Given the description of an element on the screen output the (x, y) to click on. 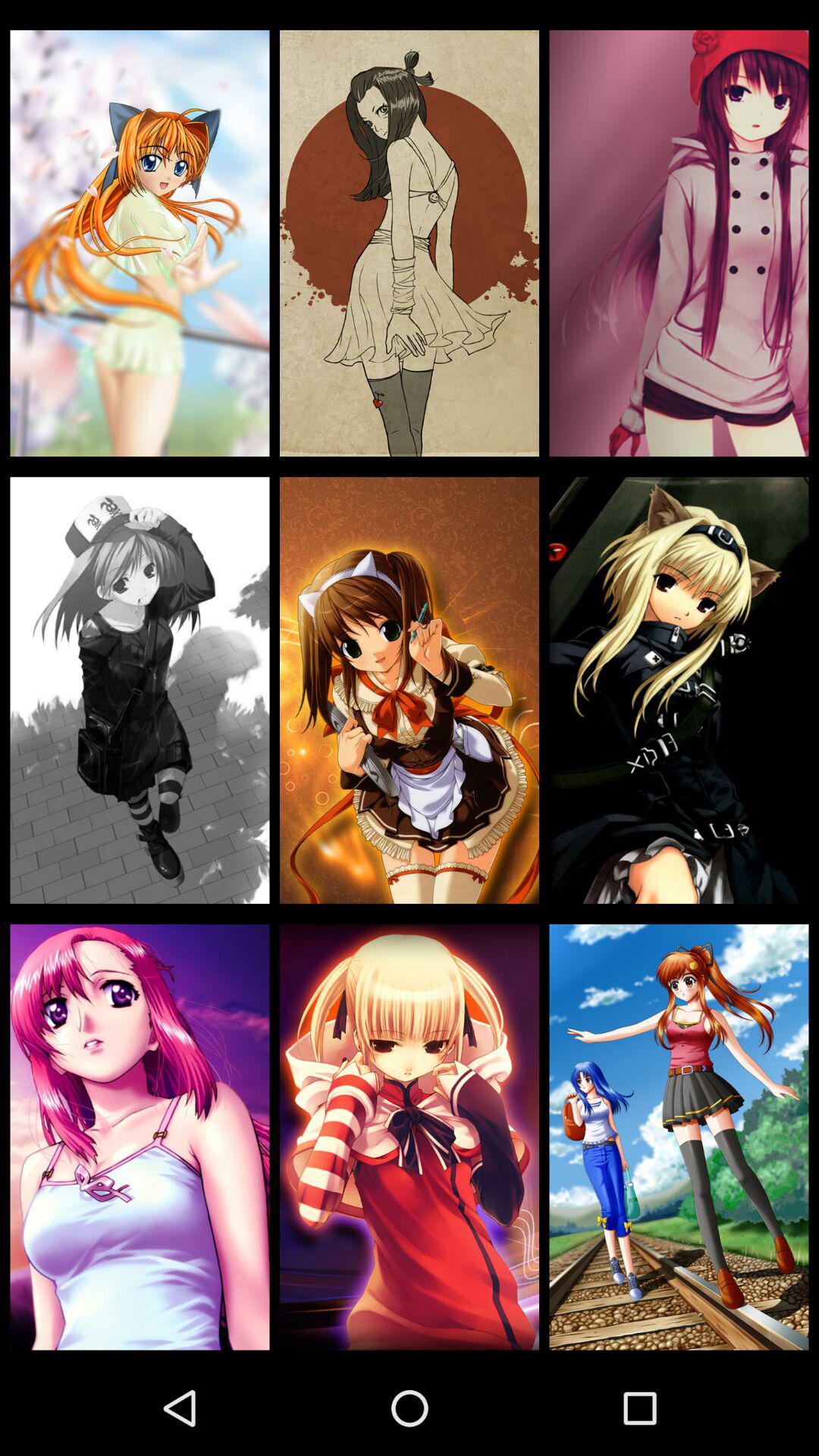
zoom in on this picture (139, 243)
